Given the description of an element on the screen output the (x, y) to click on. 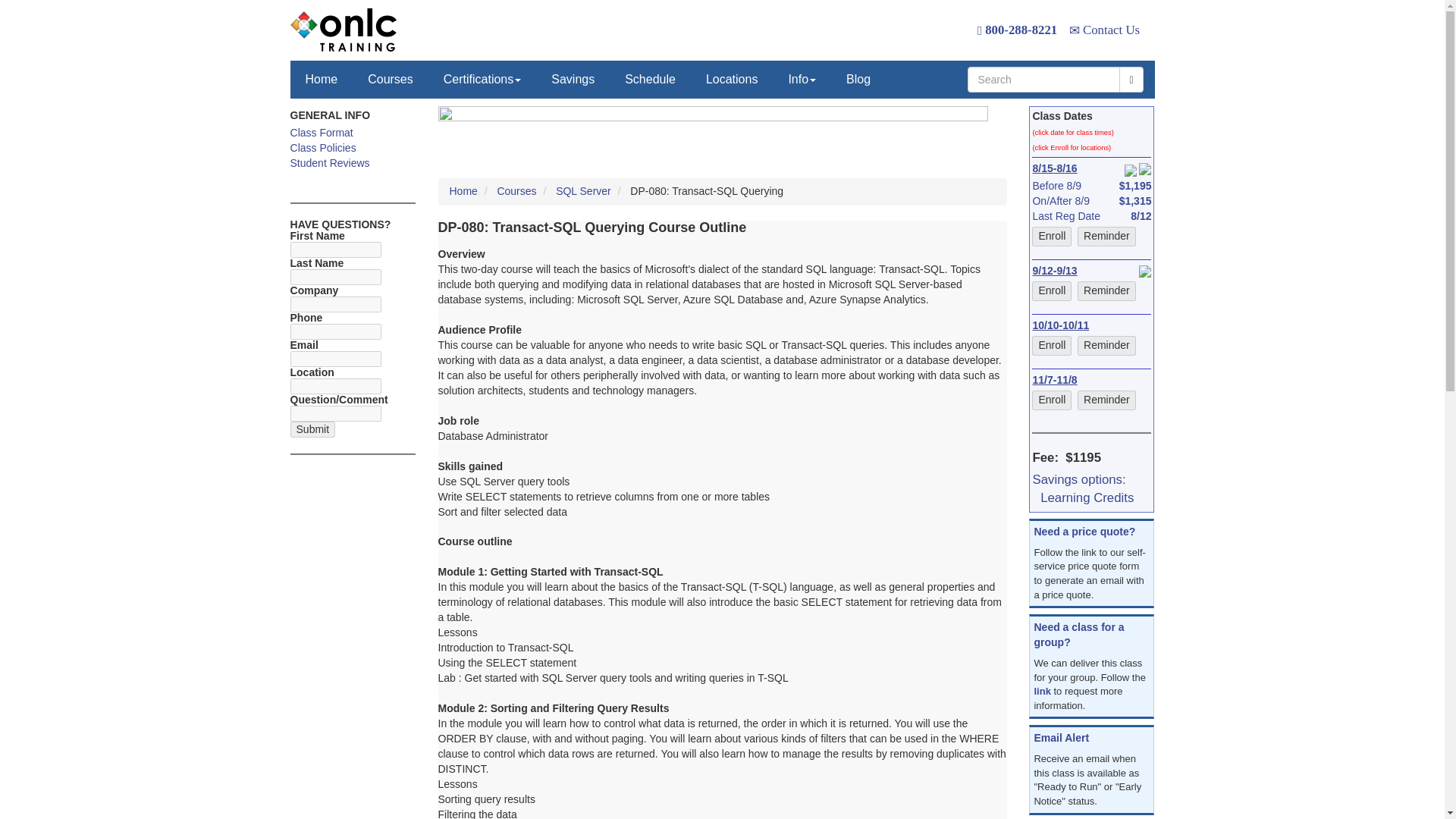
Enroll (1051, 236)
Reminder (1106, 291)
Click to get an email reminder for this class. (1106, 400)
Schedule (650, 79)
Enroll (1051, 400)
Savings (572, 79)
Certifications (481, 79)
Click to get an email reminder for this class. (1106, 236)
 Contact Us (1104, 29)
Click to get an email reminder for this class. (1106, 345)
Info (802, 79)
Click to sign up for this class. (1051, 345)
Reminder (1106, 345)
Click to sign up for this class. (1051, 400)
Courses (390, 79)
